Given the description of an element on the screen output the (x, y) to click on. 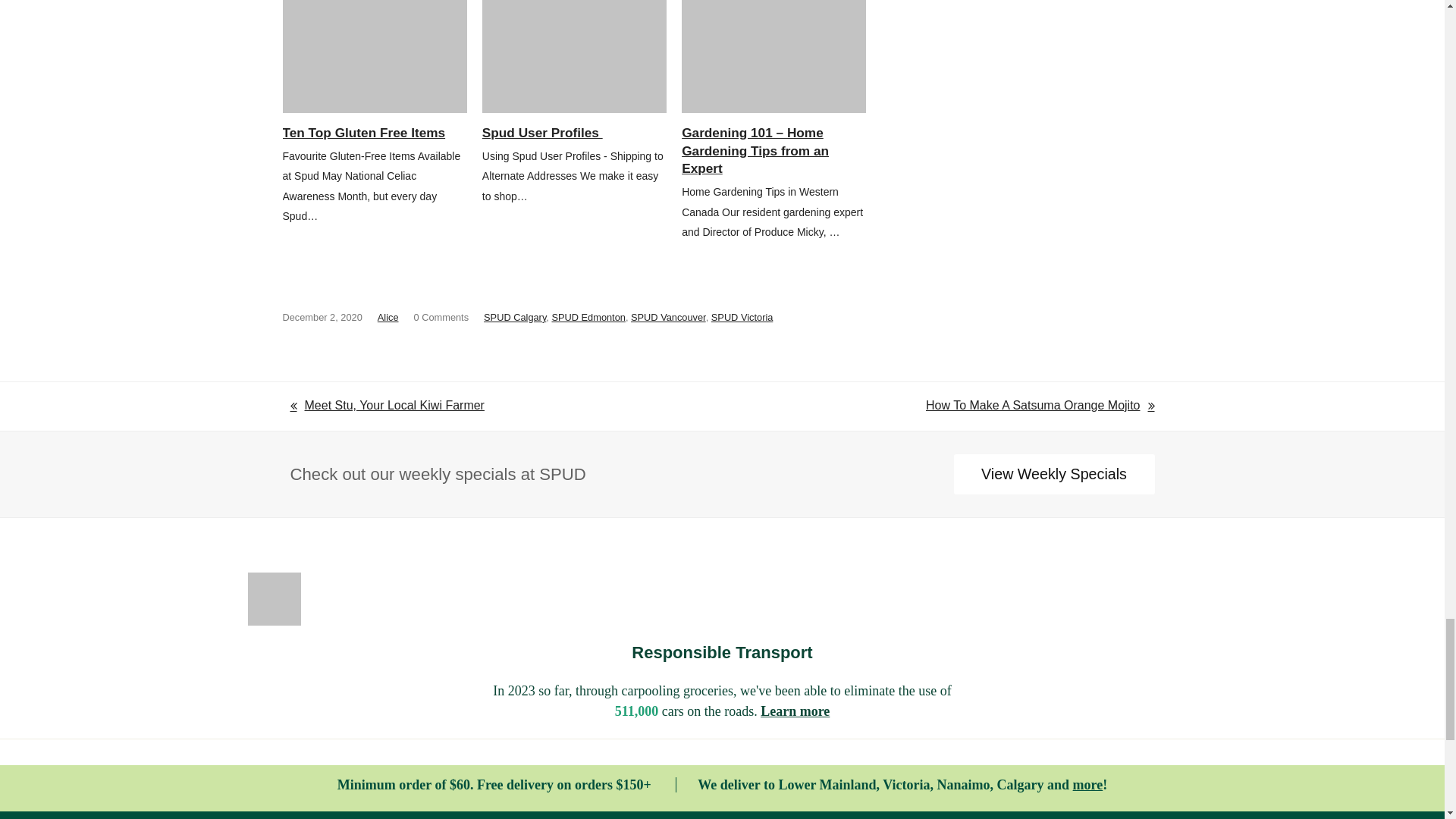
0 Comments (440, 317)
Ten Top Gluten Free Items (373, 56)
